Given the description of an element on the screen output the (x, y) to click on. 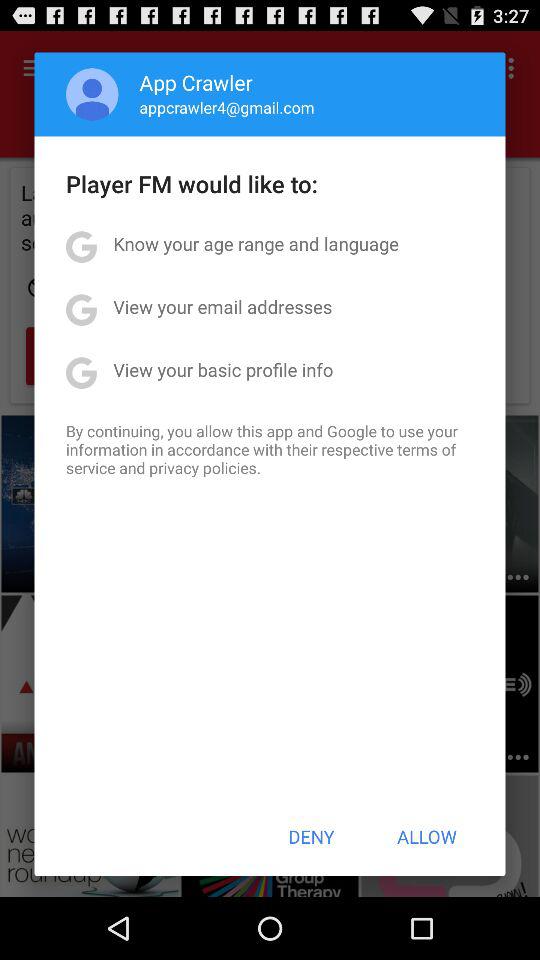
jump to the app crawler (195, 82)
